Given the description of an element on the screen output the (x, y) to click on. 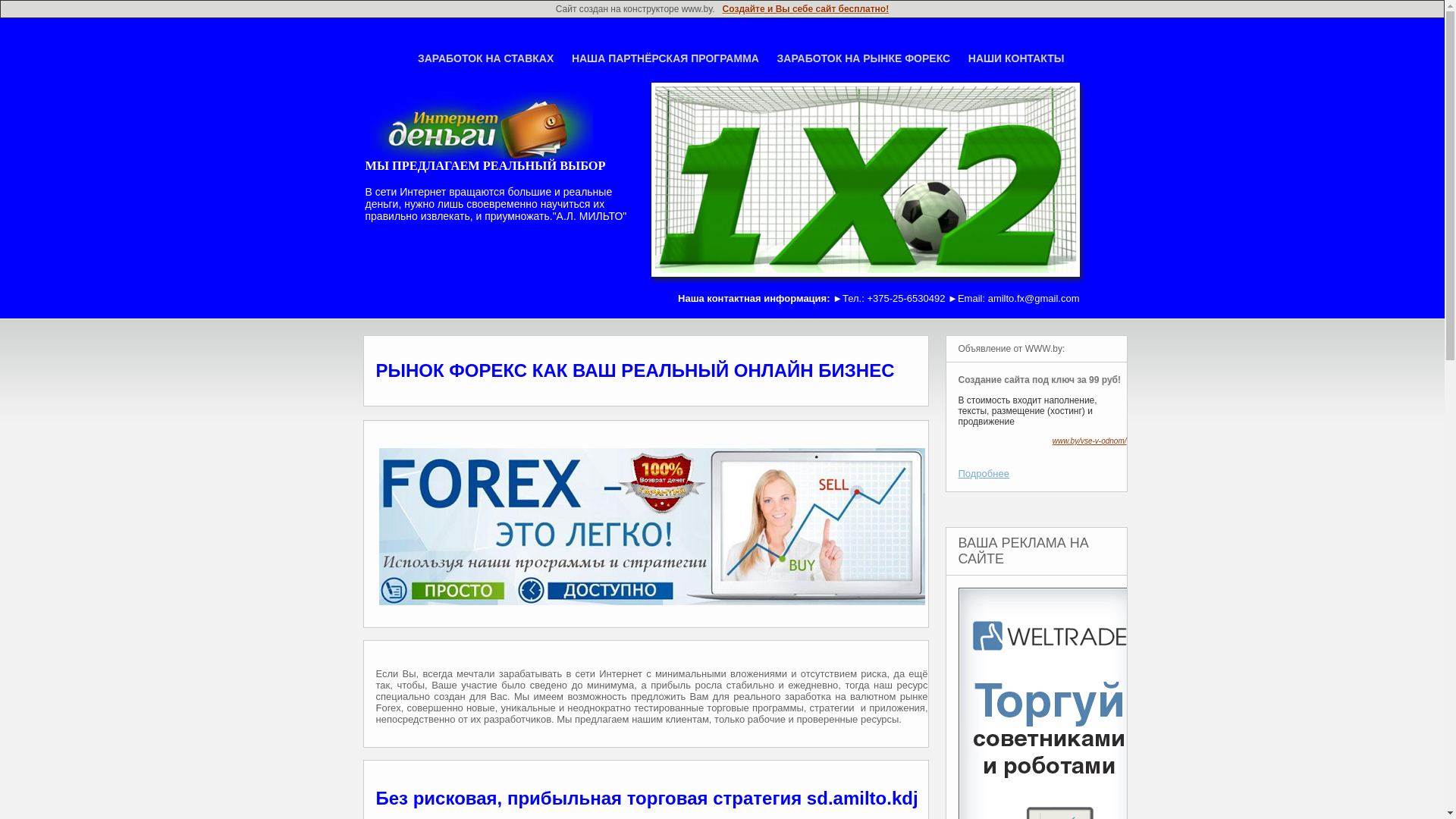
www.by/vse-v-odnom/ Element type: text (1089, 440)
